Given the description of an element on the screen output the (x, y) to click on. 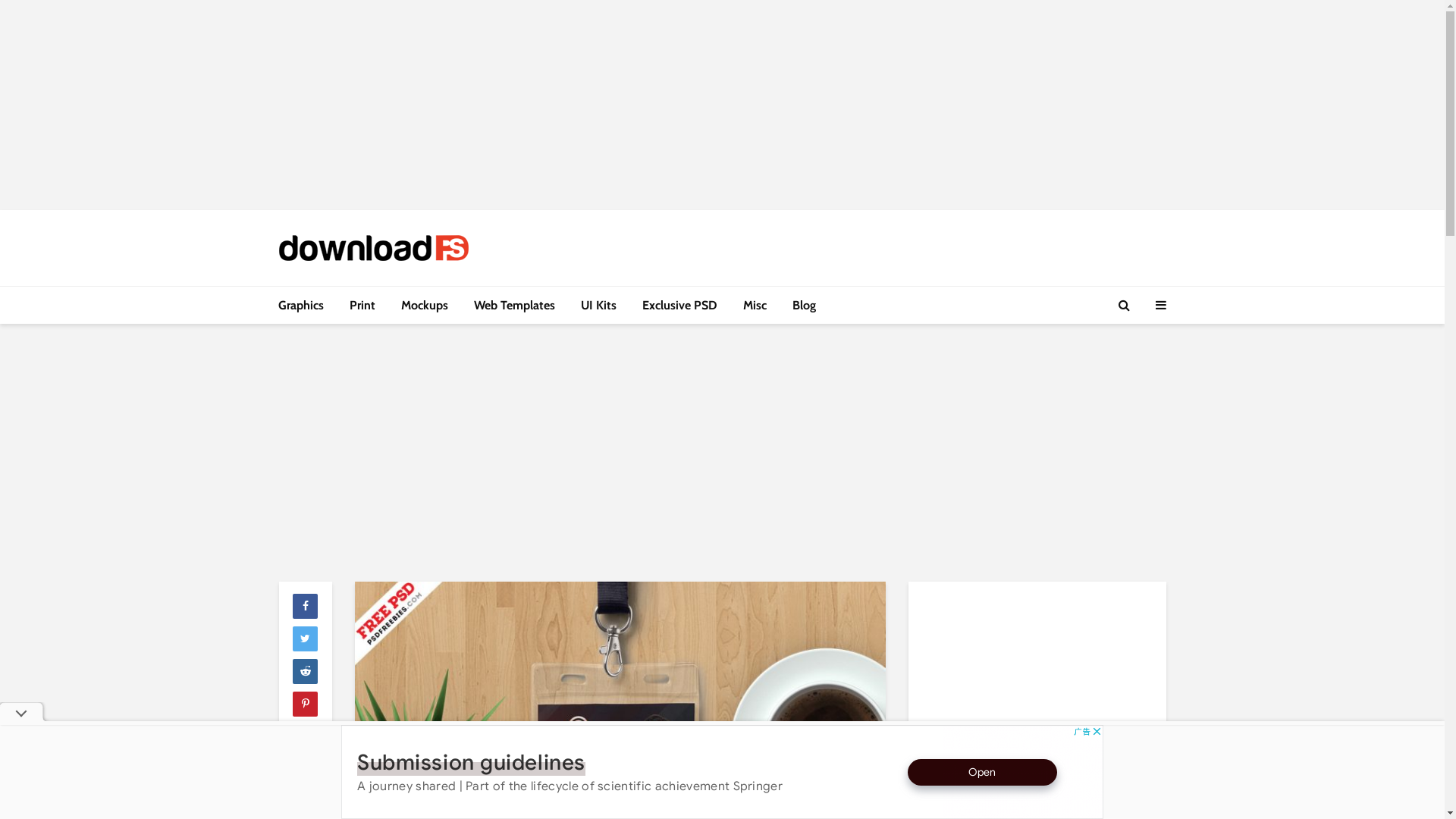
Print Element type: text (362, 305)
Advertisement Element type: hover (722, 102)
Employee Photo ID Card Design Template Element type: hover (619, 778)
Mockups Element type: text (424, 305)
Misc Element type: text (754, 305)
Graphics Element type: text (300, 305)
Advertisement Element type: hover (722, 452)
Blog Element type: text (804, 305)
Web Templates Element type: text (514, 305)
Advertisement Element type: hover (1032, 687)
Exclusive PSD Element type: text (679, 305)
UI Kits Element type: text (597, 305)
